Given the description of an element on the screen output the (x, y) to click on. 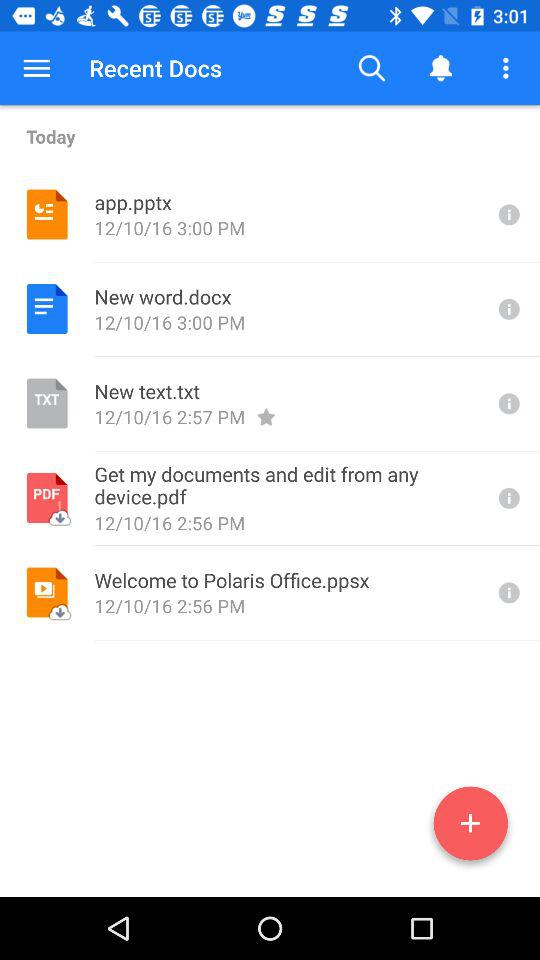
i (507, 403)
